Given the description of an element on the screen output the (x, y) to click on. 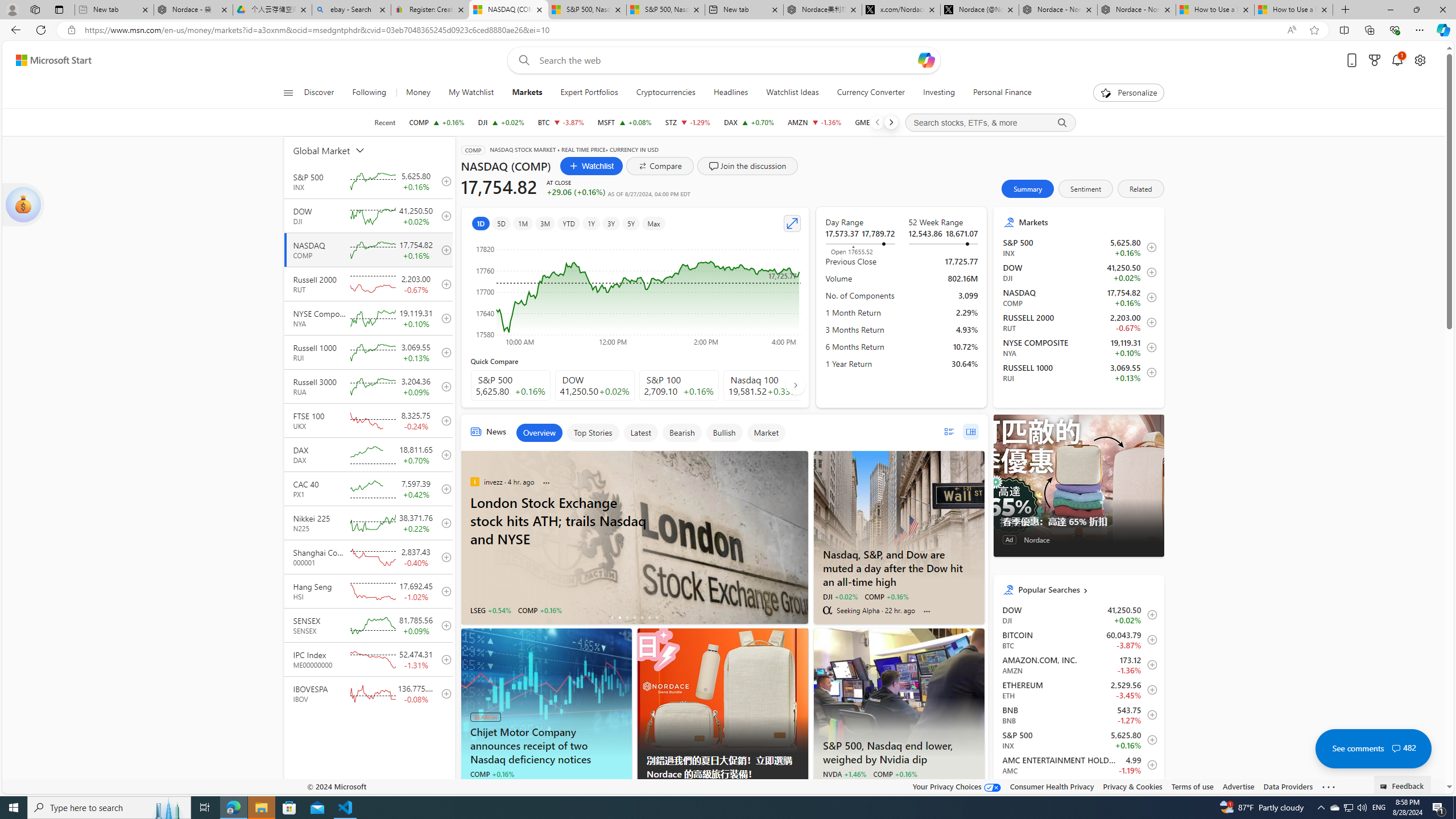
1M (522, 223)
Class: button-glyph (287, 92)
BTC Bitcoin decrease 60,043.79 -2,323.69 -3.87% (560, 122)
COMP NASDAQ increase 17,754.82 +29.06 +0.16% (436, 122)
AutomationID: finance_carousel_navi_arrow (795, 385)
AdChoices (798, 789)
Sentiment (1085, 188)
GME GAMESTOP CORP. decrease 20.74 -0.62 -2.90% (879, 122)
Markets (526, 92)
